Given the description of an element on the screen output the (x, y) to click on. 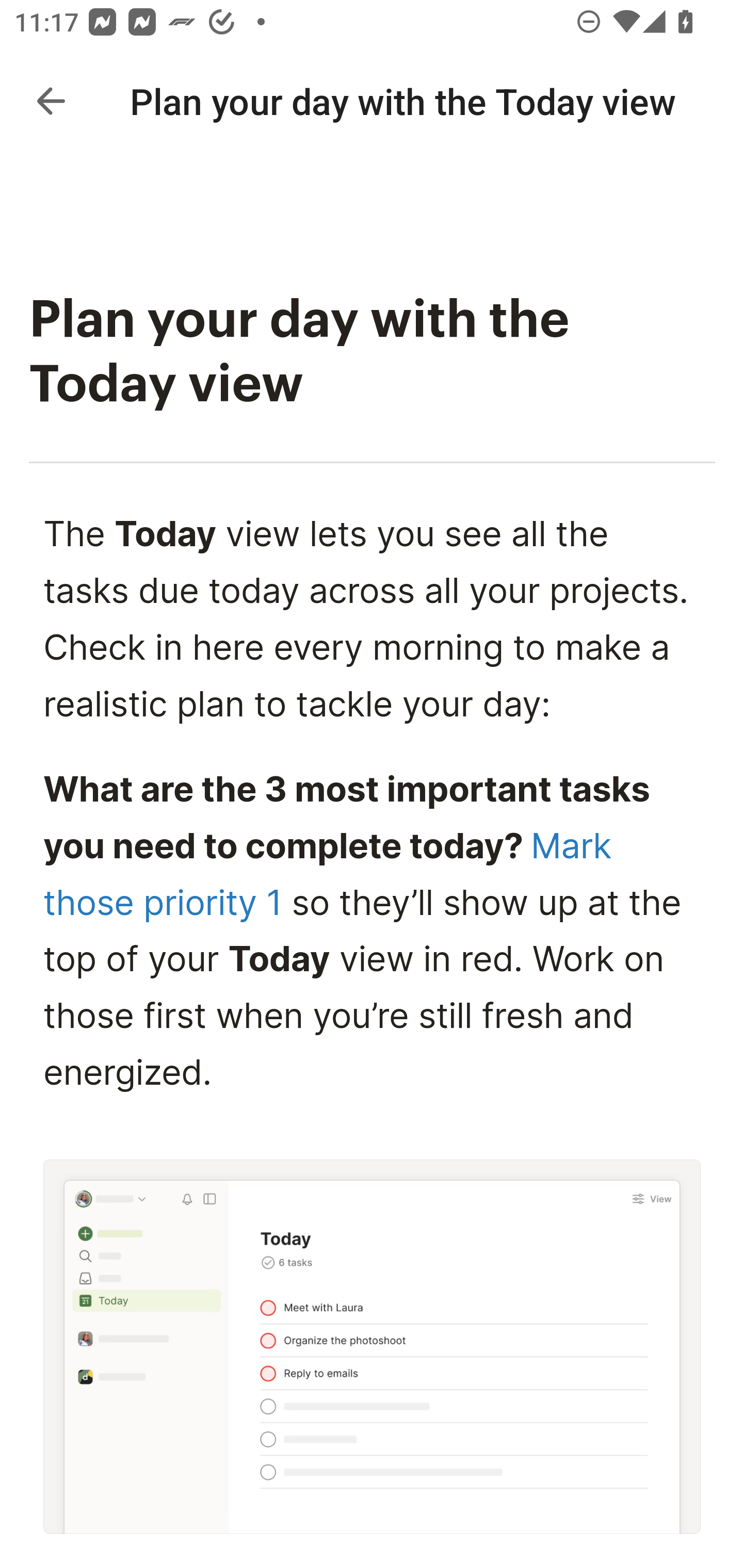
Navigate up (50, 101)
Mark those priority 1  (327, 873)
priorities-web.png (372, 1347)
